Given the description of an element on the screen output the (x, y) to click on. 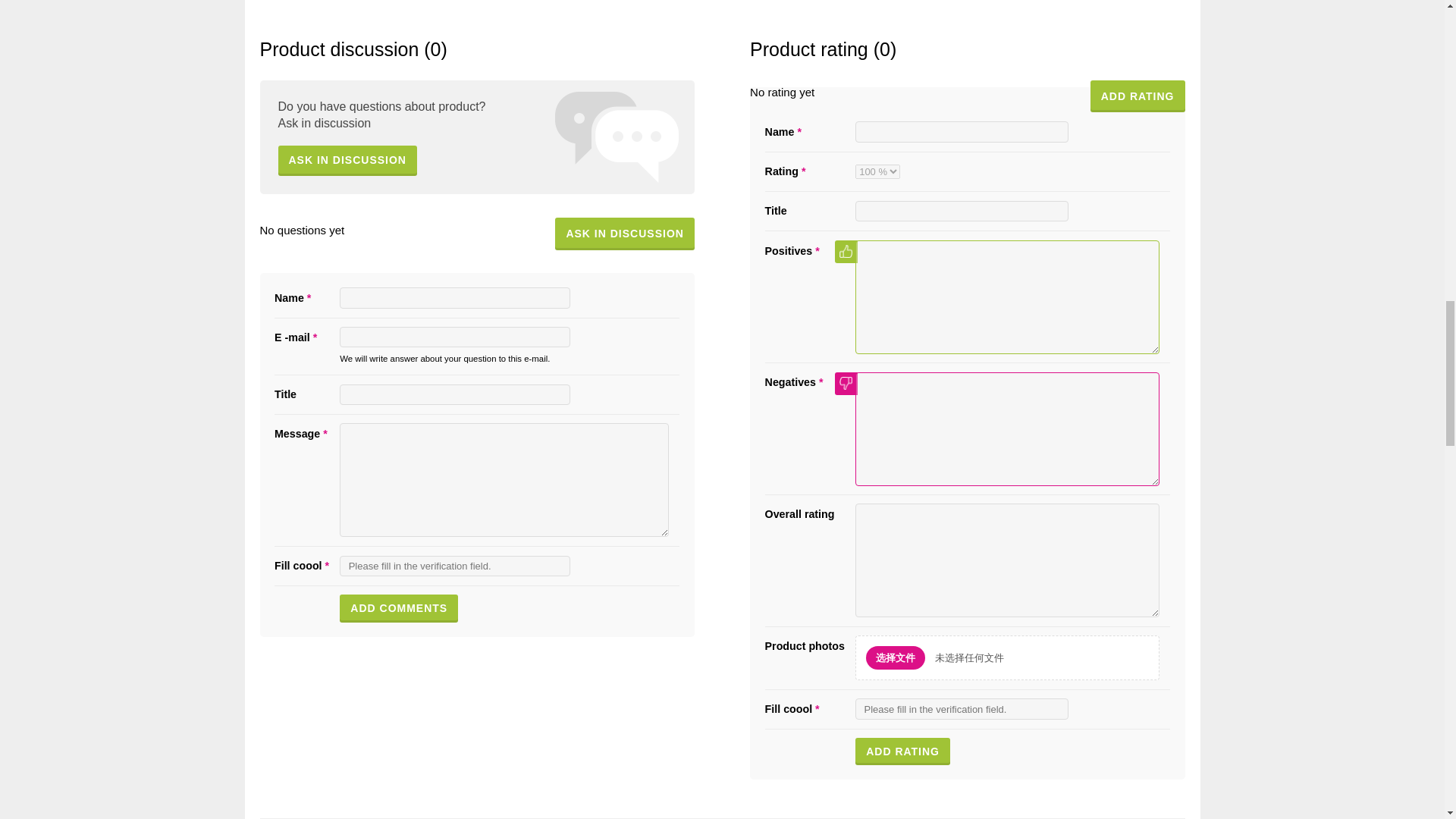
Add comments (398, 607)
Add rating (903, 750)
Add comments (398, 607)
ASK IN DISCUSSION (624, 233)
Add rating (903, 750)
ASK IN DISCUSSION (347, 160)
ADD RATING (1137, 96)
